Given the description of an element on the screen output the (x, y) to click on. 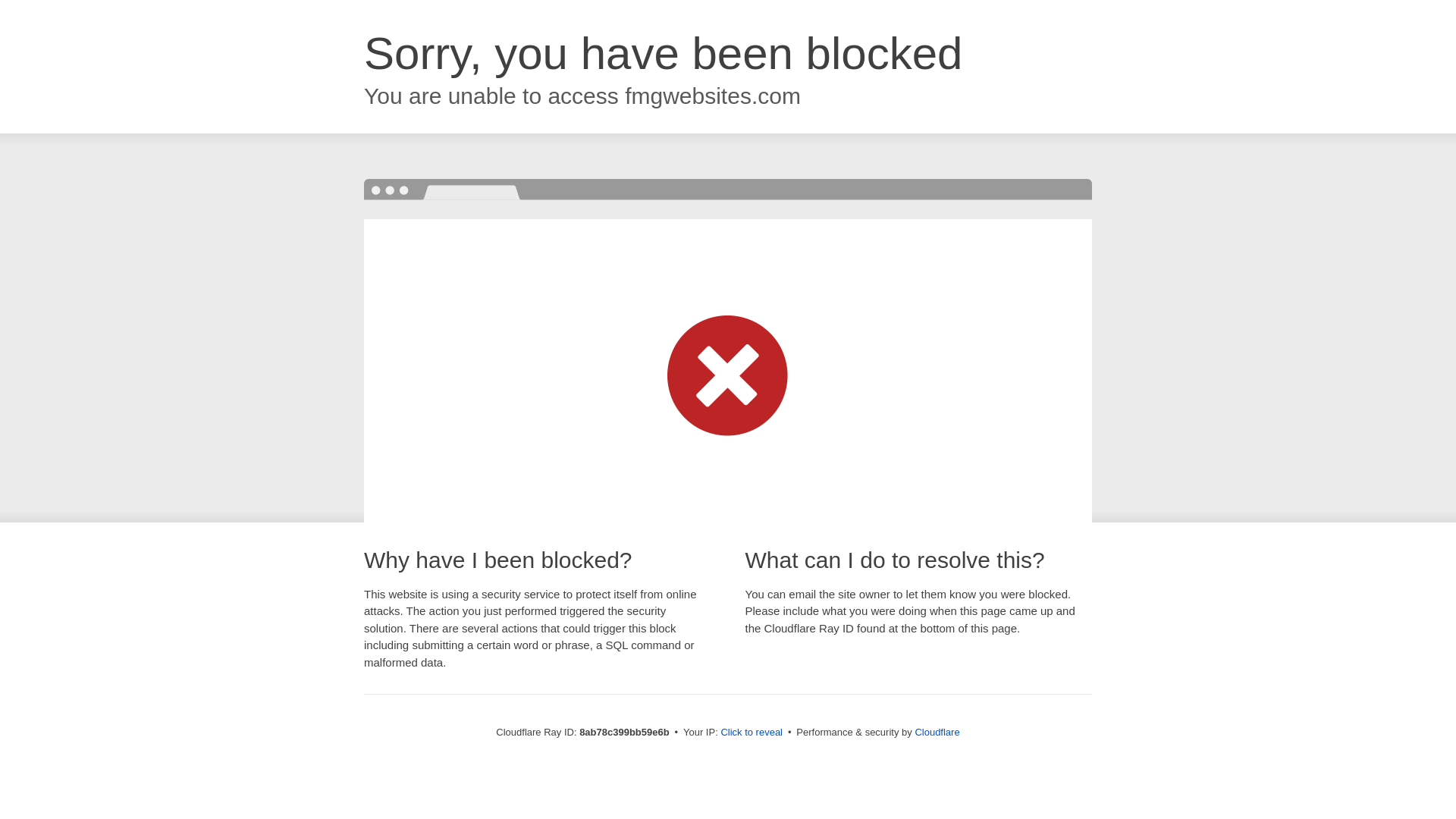
Click to reveal (751, 732)
Cloudflare (936, 731)
